Given the description of an element on the screen output the (x, y) to click on. 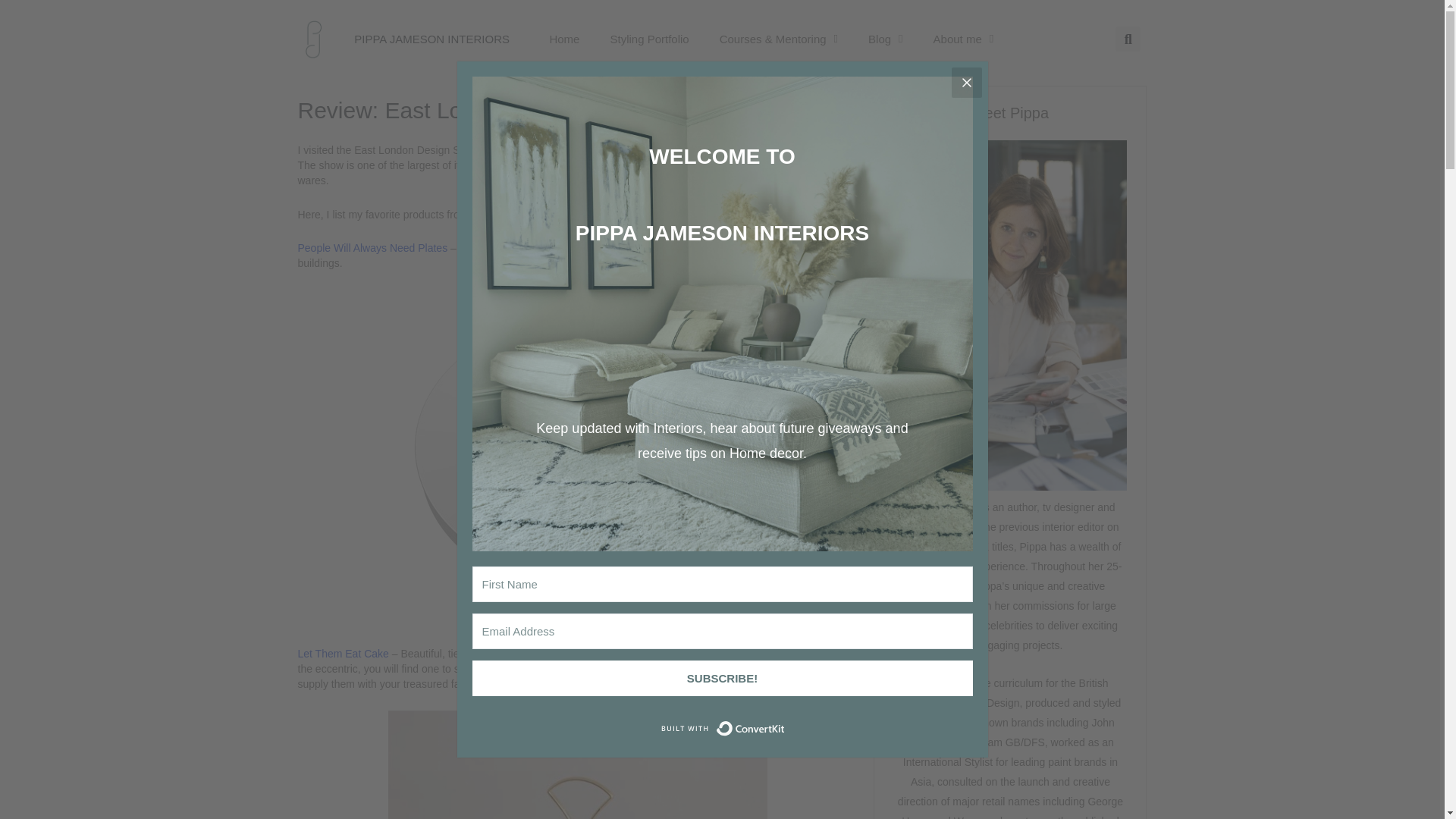
Let Them Eat Cake (344, 653)
PLATE sunhouse (577, 450)
Styling Portfolio (648, 38)
About me (963, 38)
People Will Always Need Plates (373, 247)
Blue stripe Delight (577, 764)
Home (564, 38)
PIPPA JAMESON INTERIORS (431, 38)
Blog (885, 38)
